Given the description of an element on the screen output the (x, y) to click on. 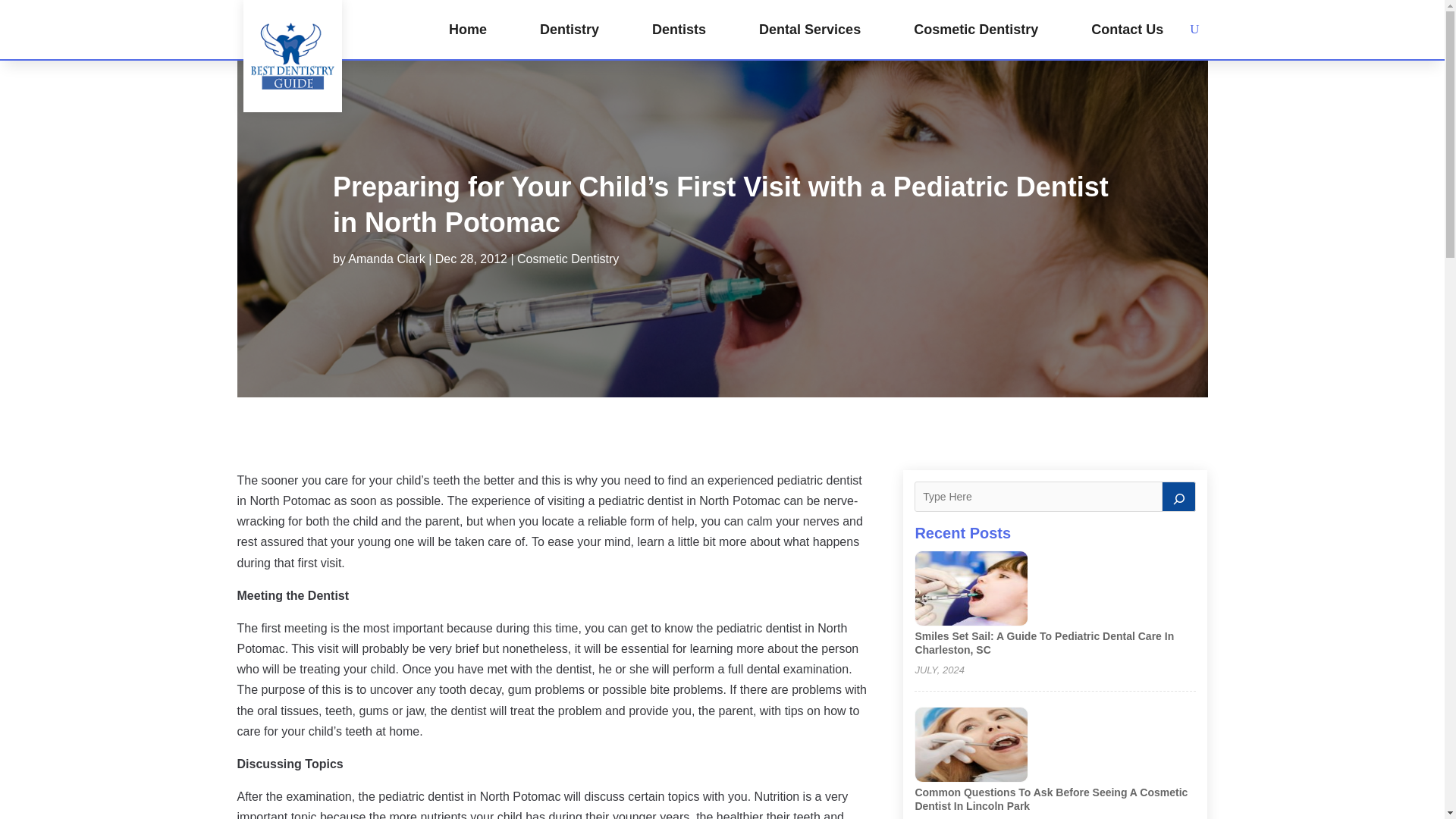
Dentists (679, 29)
Dental Services (809, 29)
Contact Us (1126, 29)
Cosmetic Dentistry (976, 29)
Amanda Clark (386, 258)
Cosmetic Dentistry (567, 258)
Posts by Amanda Clark (386, 258)
Dentistry (569, 29)
